Given the description of an element on the screen output the (x, y) to click on. 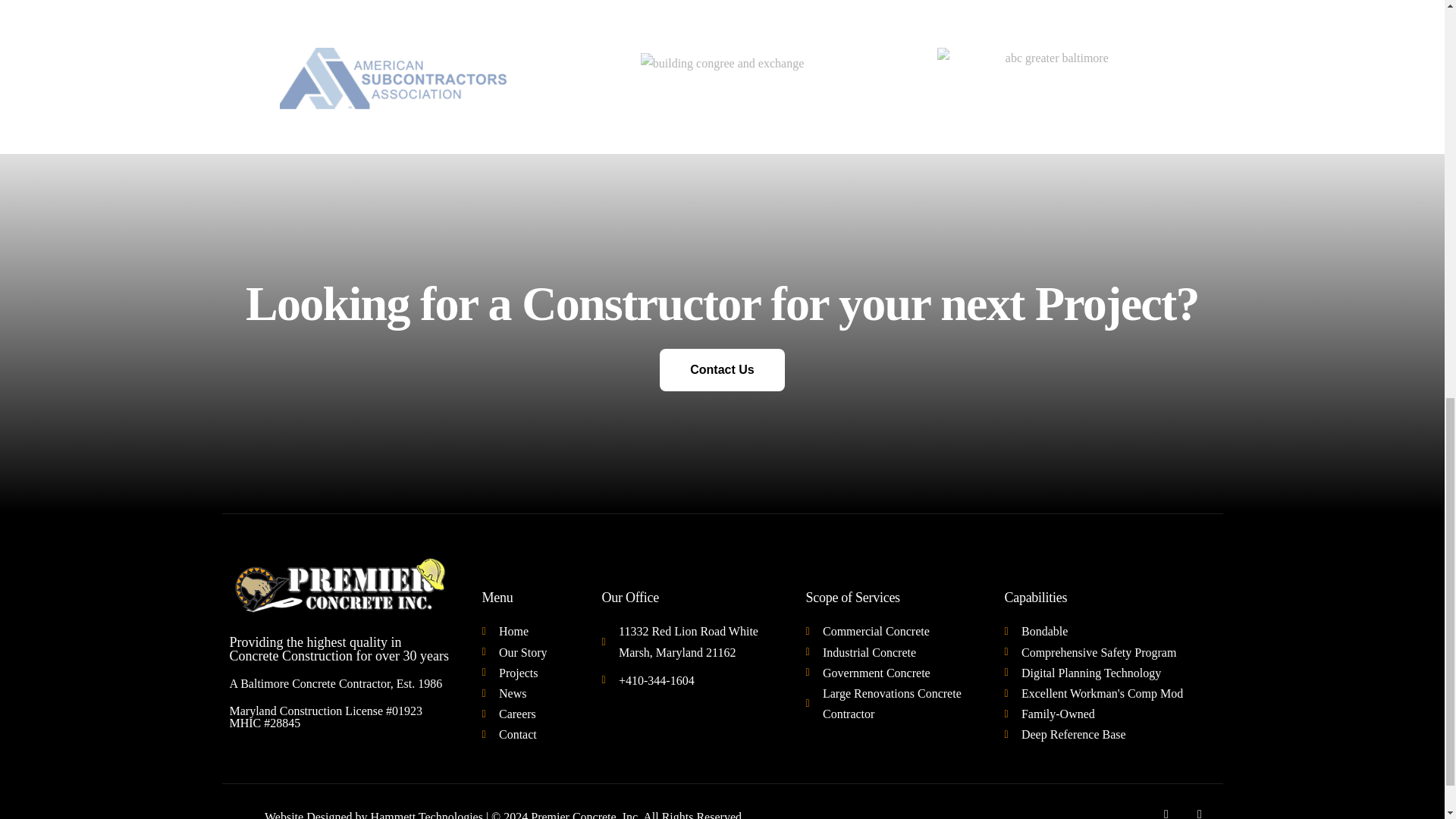
Careers (525, 713)
Home (525, 630)
News (525, 693)
Premier Concrete Logo White - Premier Concrete Inc. (339, 585)
Contact Us (721, 369)
Contact (525, 733)
Our Story (525, 652)
Building Congress and Exchange (721, 63)
